Given the description of an element on the screen output the (x, y) to click on. 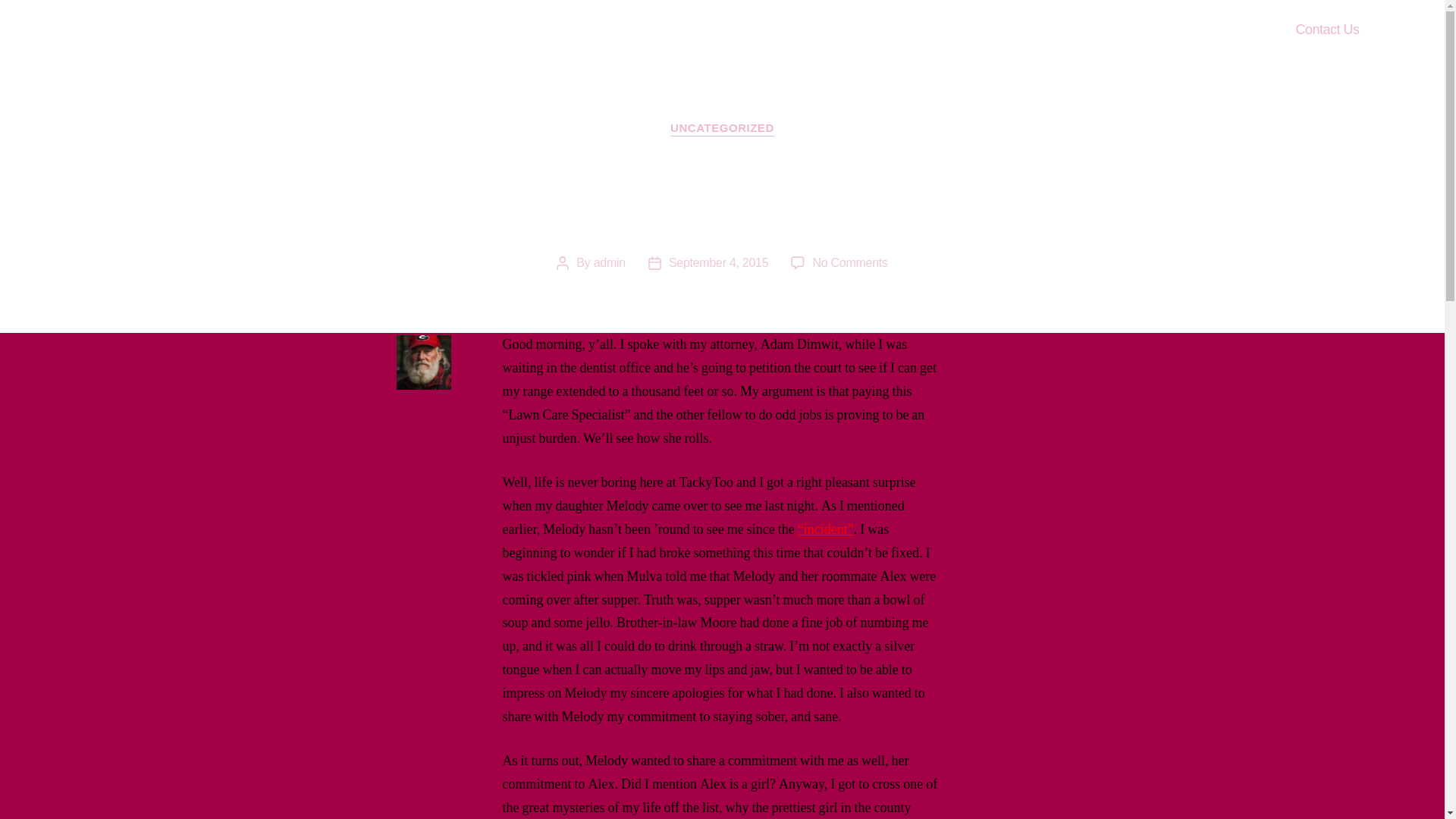
UNCATEGORIZED (721, 128)
Tales From The Trailer Park (849, 262)
September 4, 2015 (192, 30)
admin (718, 262)
Contact Us (610, 262)
